Given the description of an element on the screen output the (x, y) to click on. 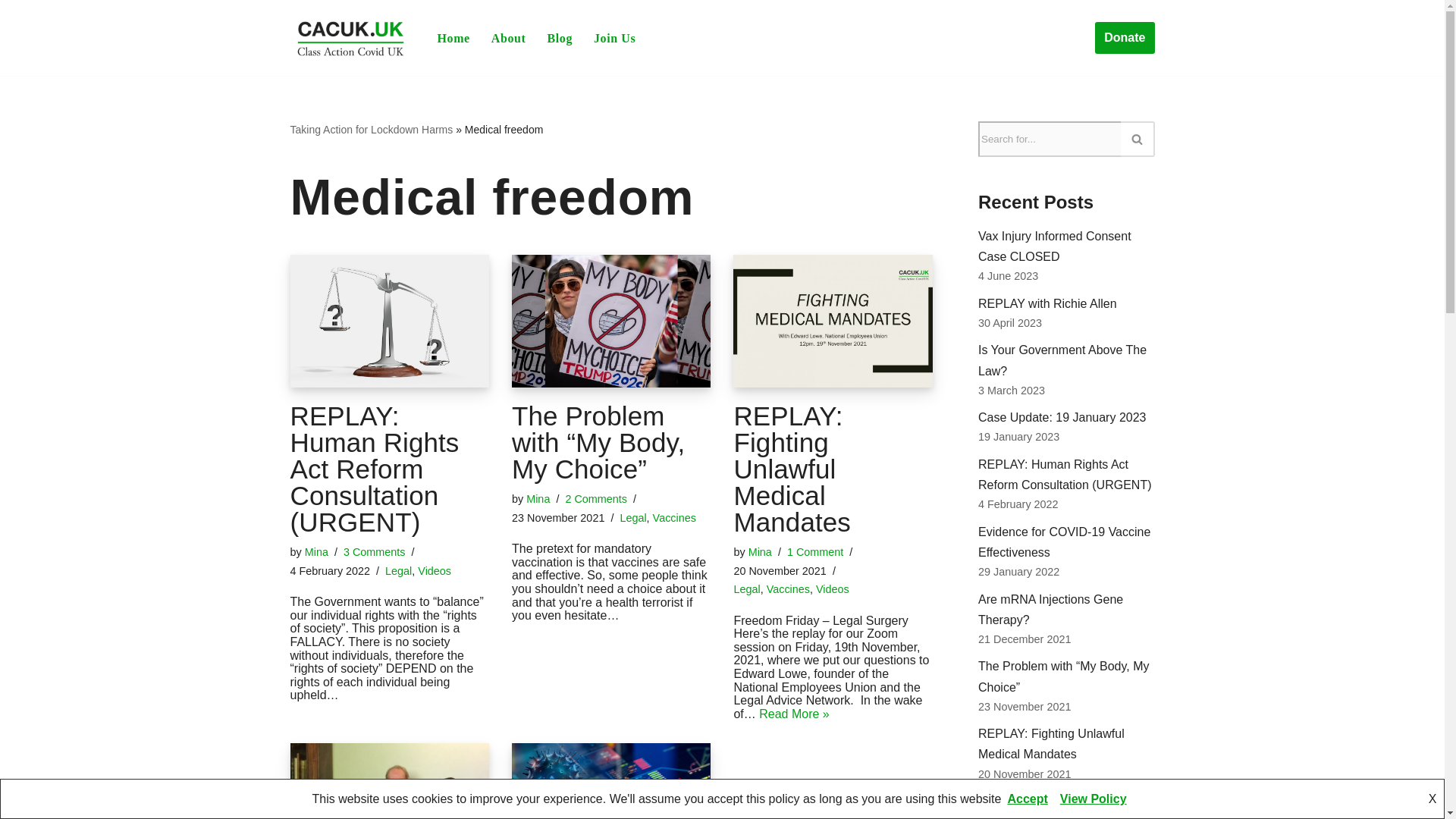
Vaccines (673, 517)
3 Comments (374, 551)
2 Comments (595, 499)
Videos (434, 571)
Legal (746, 589)
Are YOU Ready for 2030? (611, 780)
Join Us (614, 37)
Mina (316, 551)
Posts by Mina (537, 499)
REPLAY: Fighting Unlawful Medical Mandates (832, 320)
1 Comment (815, 551)
Skip to content (11, 31)
Legal (633, 517)
Legal (398, 571)
Mina (759, 551)
